Given the description of an element on the screen output the (x, y) to click on. 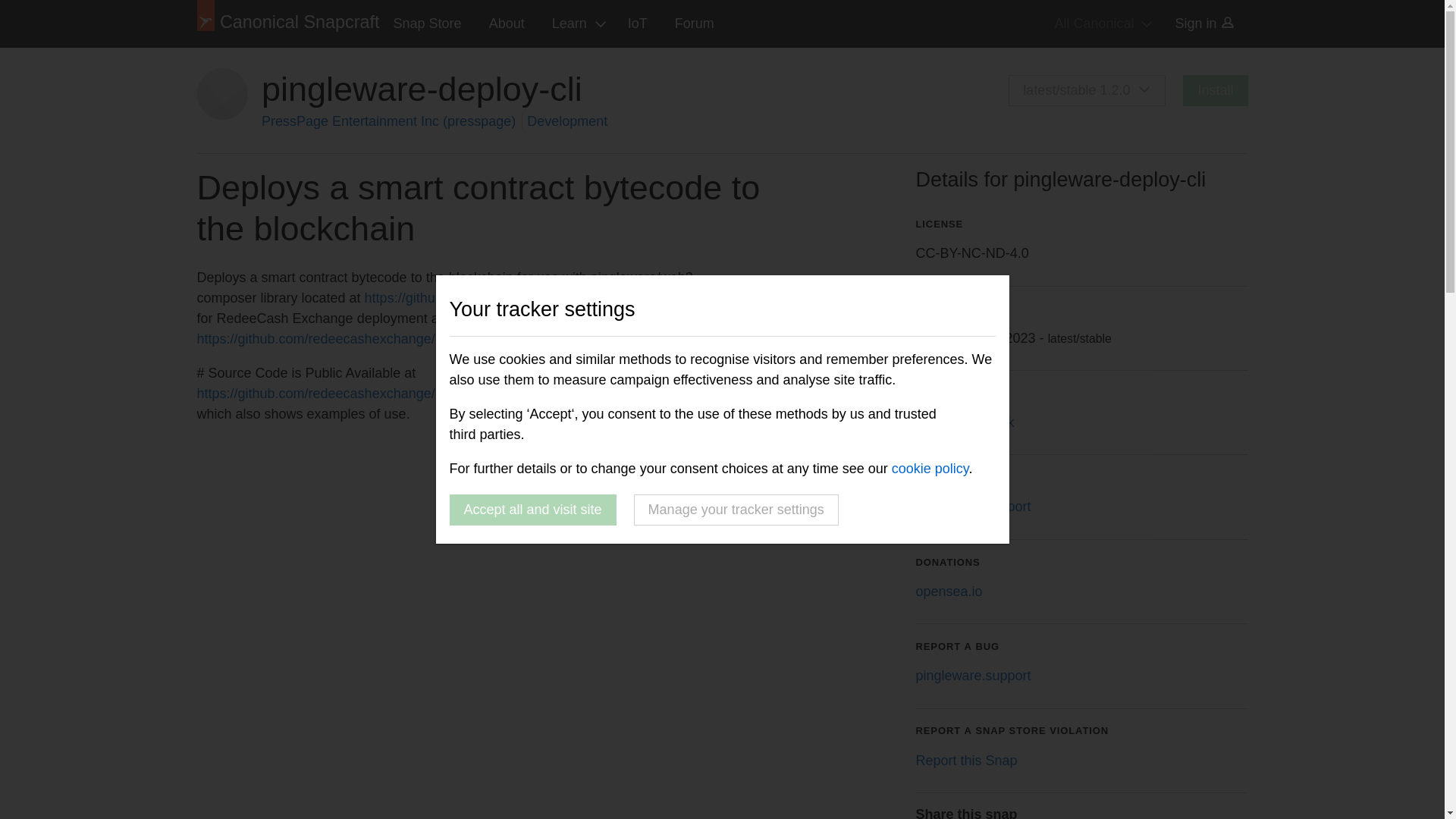
Snap Store (428, 23)
Forum (694, 23)
Canonical Snapcraft (288, 23)
About (507, 23)
IoT (637, 23)
Learn (576, 23)
